Given the description of an element on the screen output the (x, y) to click on. 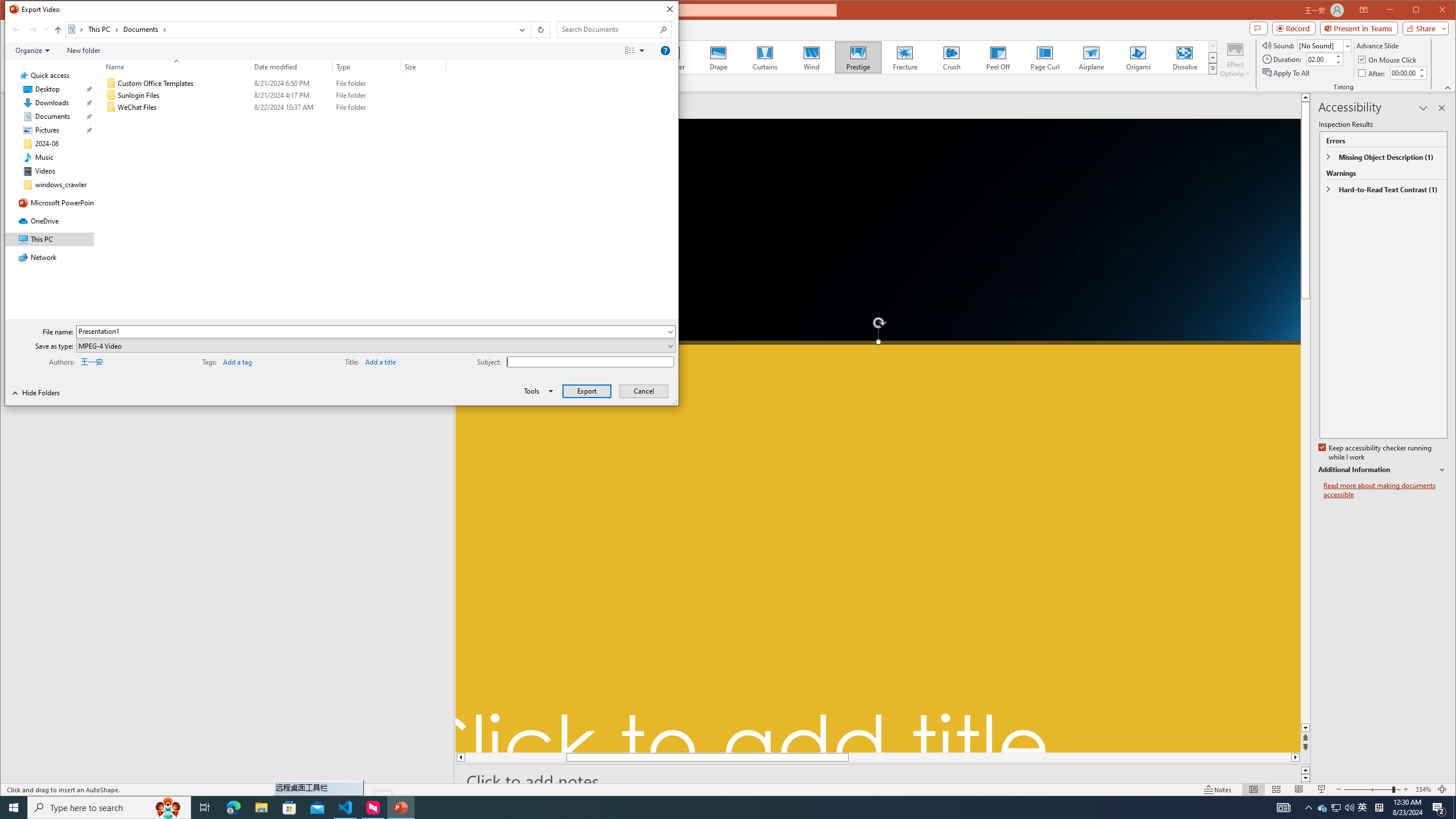
Class: ToolbarWindow32 (40, 392)
Date modified (291, 66)
Search Box (608, 29)
Date modified (291, 107)
Command Module (341, 50)
Read more about making documents accessible (1322, 807)
Duration (1385, 489)
On Mouse Click (1320, 59)
